Given the description of an element on the screen output the (x, y) to click on. 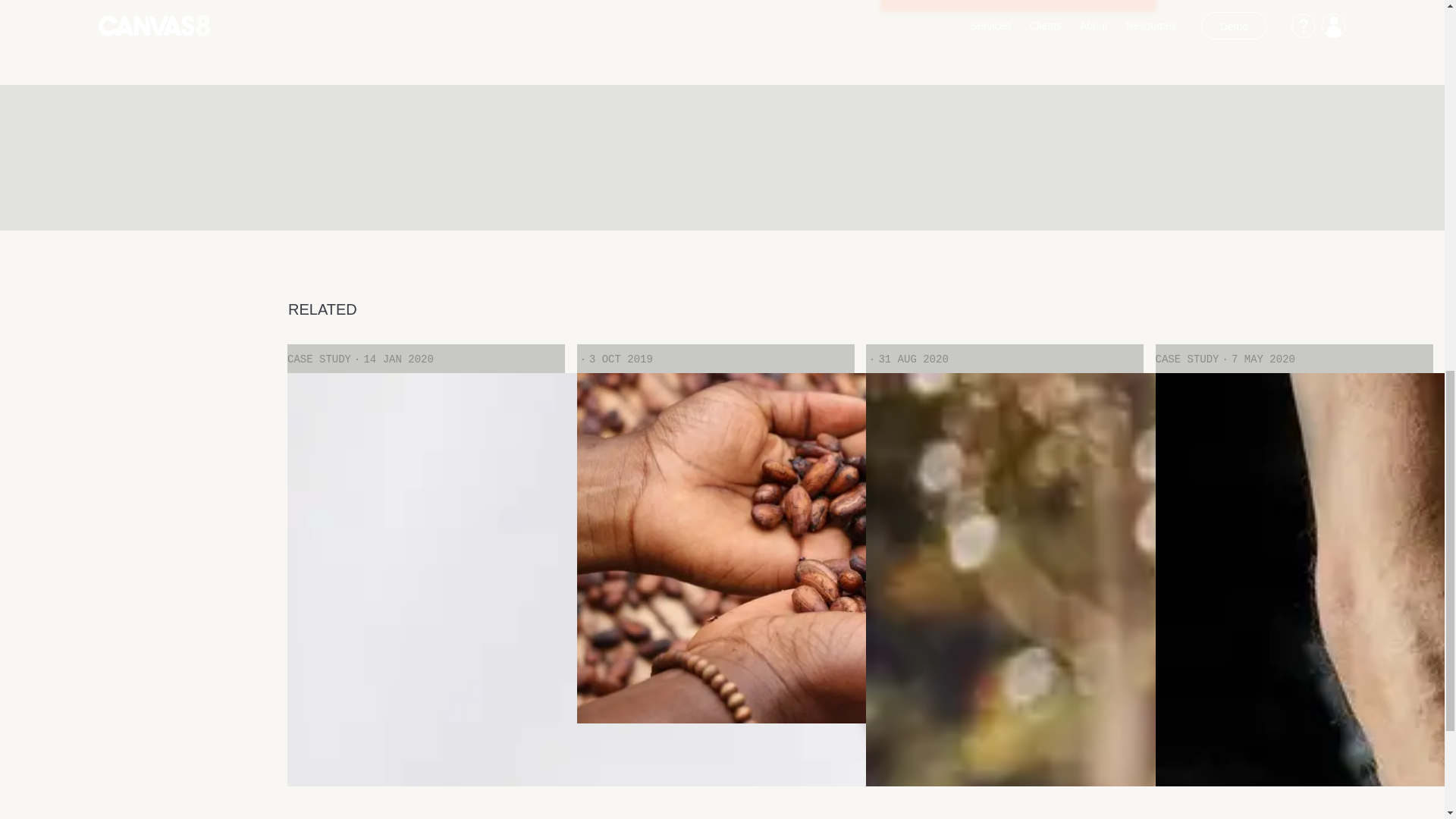
Cacao waste chocolate targets sustainable snackers (714, 570)
Parents want Halloween to dust away COVID-19 cobwebs (1004, 570)
Magic Spoon: spoonfuls of healthy nostalgia (425, 570)
Lune Croissanterie: baked goods for novelty seekers (1294, 570)
